Given the description of an element on the screen output the (x, y) to click on. 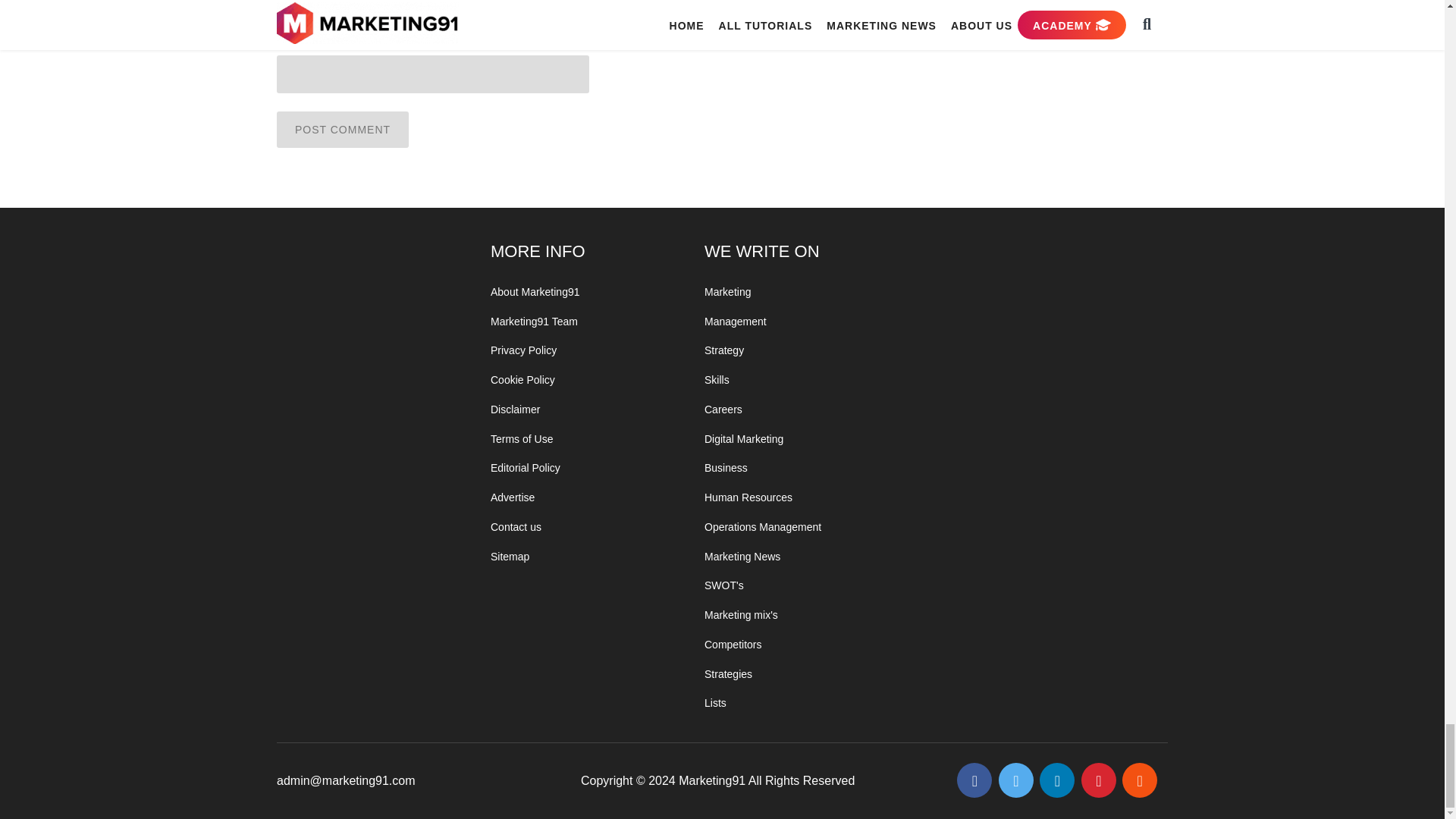
Post Comment (342, 129)
